Given the description of an element on the screen output the (x, y) to click on. 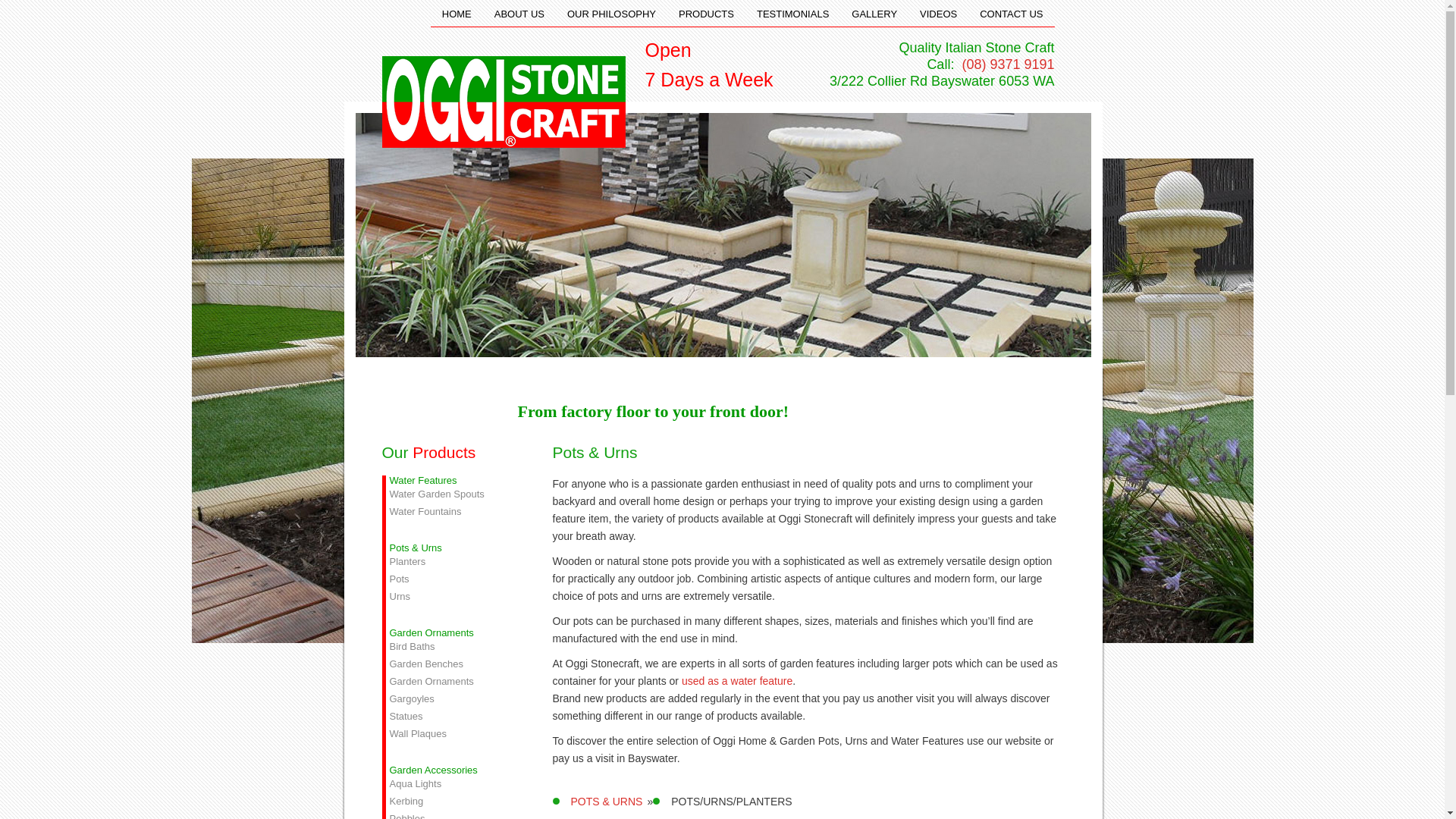
Aqua Lights Element type: text (452, 783)
VIDEOS Element type: text (938, 13)
Gargoyles Element type: text (452, 698)
GALLERY Element type: text (874, 13)
Statues Element type: text (452, 715)
Garden Ornaments and Statues in Perth Element type: hover (503, 101)
(08) 9371 9191 Element type: text (1005, 64)
used as a water feature Element type: text (736, 680)
Wall Plaques Element type: text (452, 733)
HOME Element type: text (456, 13)
Bird Baths Element type: text (452, 646)
Garden Benches Element type: text (452, 663)
Planters Element type: text (452, 561)
Water Garden Spouts Element type: text (452, 493)
Pots Element type: text (452, 578)
Water Fountains Element type: text (452, 511)
ABOUT US Element type: text (519, 13)
CONTACT US Element type: text (1011, 13)
Kerbing Element type: text (452, 800)
POTS & URNS Element type: text (606, 801)
Urns Element type: text (452, 596)
TESTIMONIALS Element type: text (792, 13)
Garden Ornaments Element type: text (452, 681)
OUR PHILOSOPHY Element type: text (611, 13)
PRODUCTS Element type: text (706, 13)
